Given the description of an element on the screen output the (x, y) to click on. 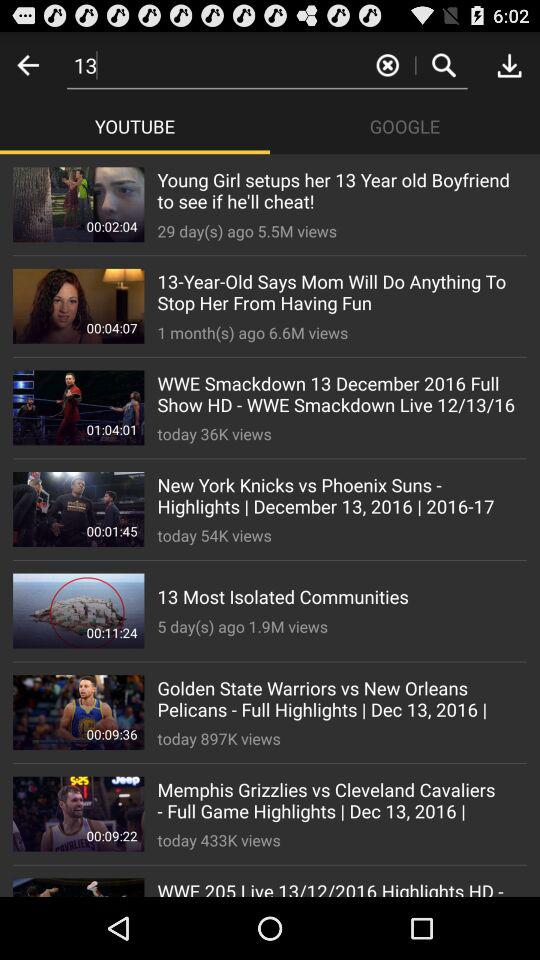
download video (509, 64)
